Given the description of an element on the screen output the (x, y) to click on. 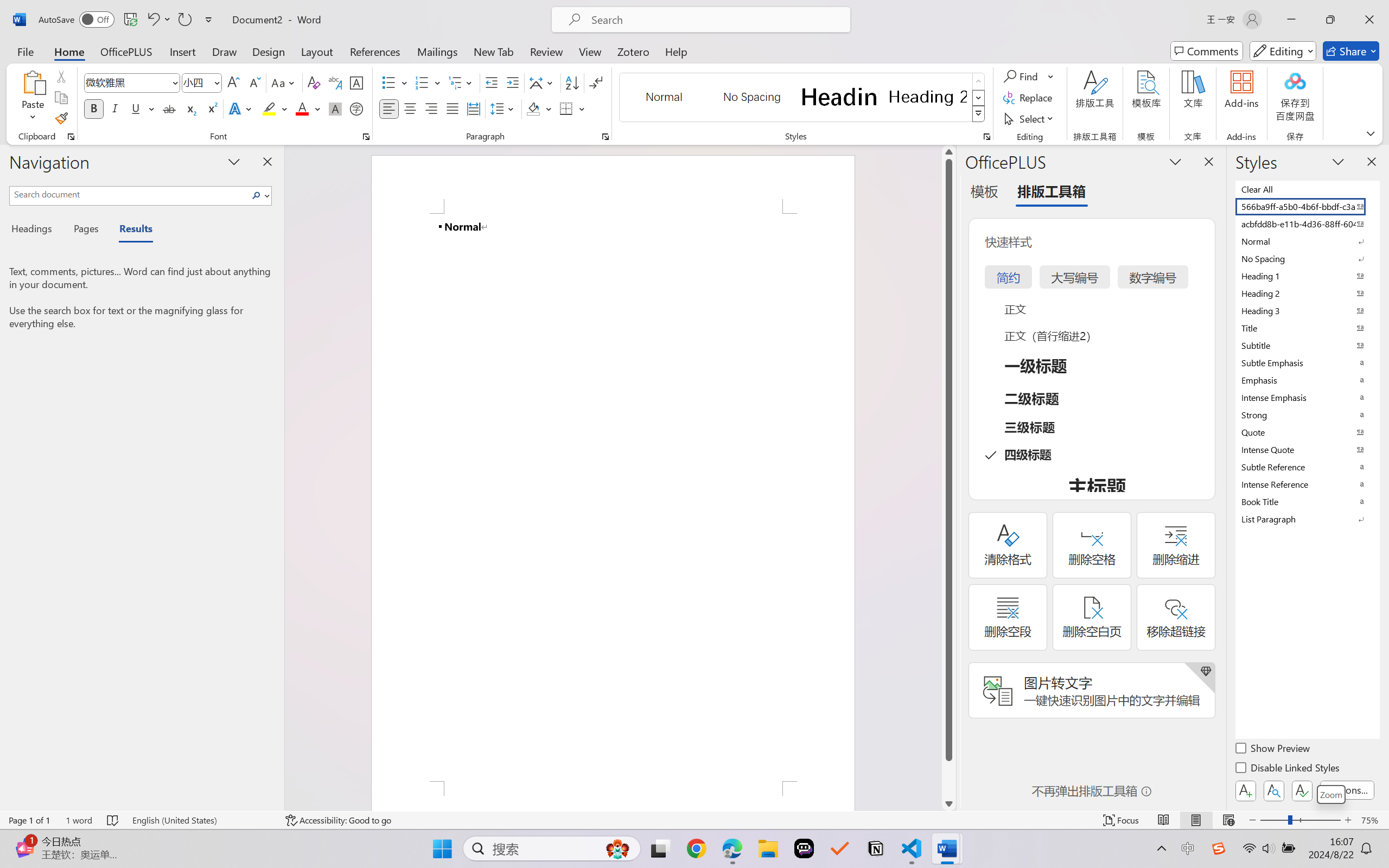
Font Color (308, 108)
AutomationID: DynamicSearchBoxGleamImage (617, 848)
List Paragraph (1306, 518)
Numbering (428, 82)
Save (130, 19)
Mailings (437, 51)
Grow Font (233, 82)
Format Painter (60, 118)
Class: NetUIButton (1301, 790)
Show Preview (1273, 749)
Text Highlight Color Yellow (269, 108)
Class: Image (1218, 847)
Undo Text Fill Effect (152, 19)
